Given the description of an element on the screen output the (x, y) to click on. 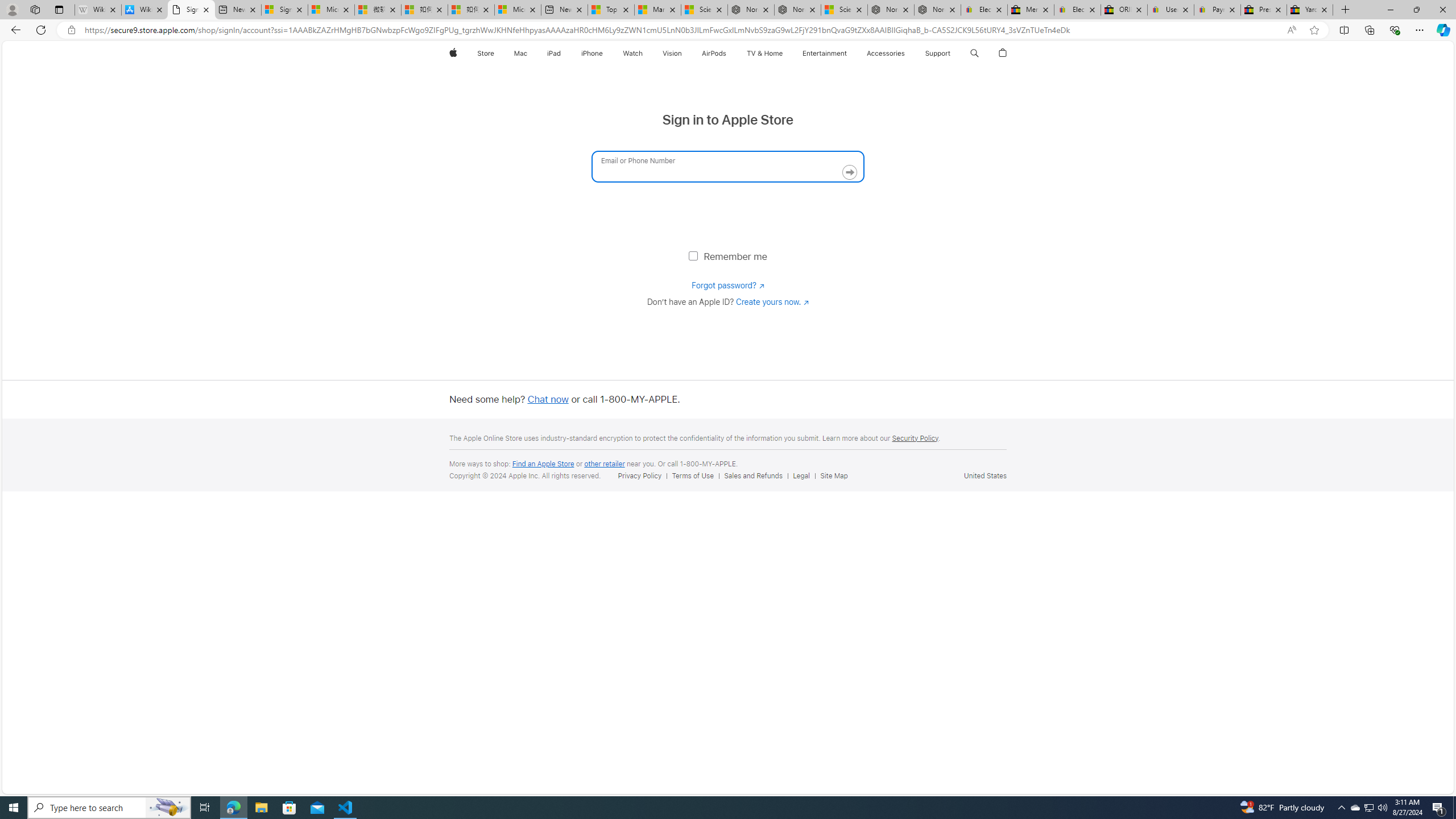
AirPods (713, 53)
iPad (554, 53)
other retailer (603, 463)
Nordace - FAQ (937, 9)
Remember me (693, 255)
